Given the description of an element on the screen output the (x, y) to click on. 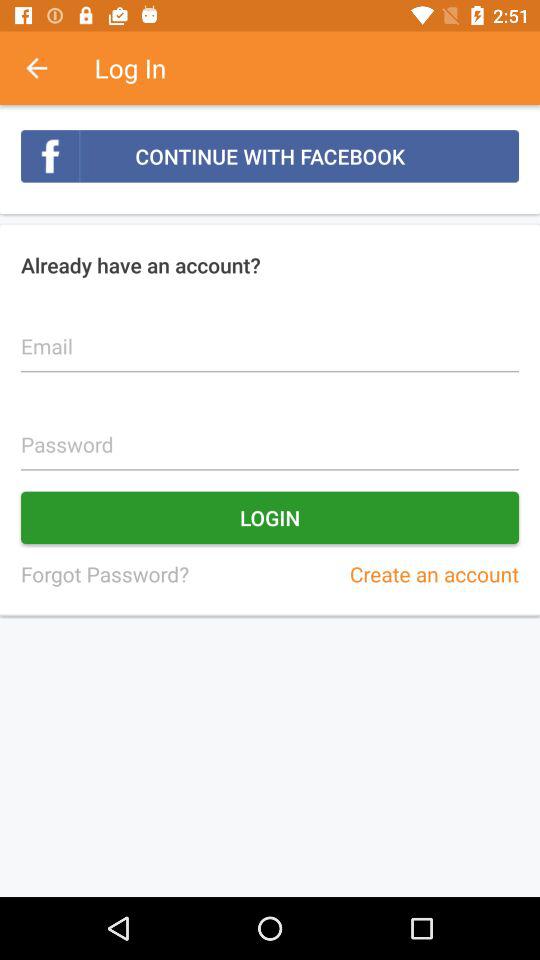
select the icon to the left of the log in item (47, 68)
